Given the description of an element on the screen output the (x, y) to click on. 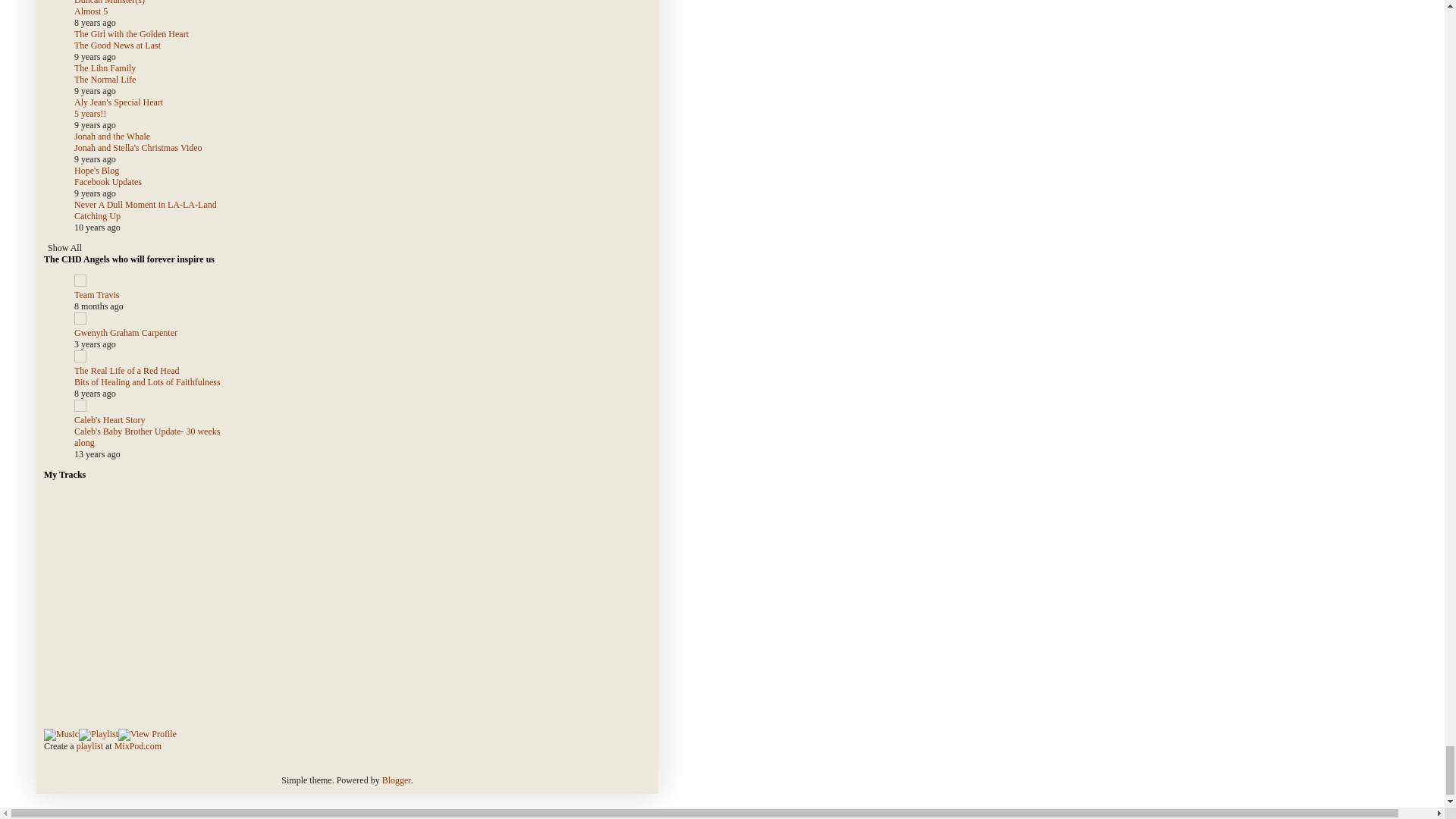
Create Your Free Playlist! (97, 734)
View all my playlists! (146, 734)
Get Music Tracks! (60, 734)
